Given the description of an element on the screen output the (x, y) to click on. 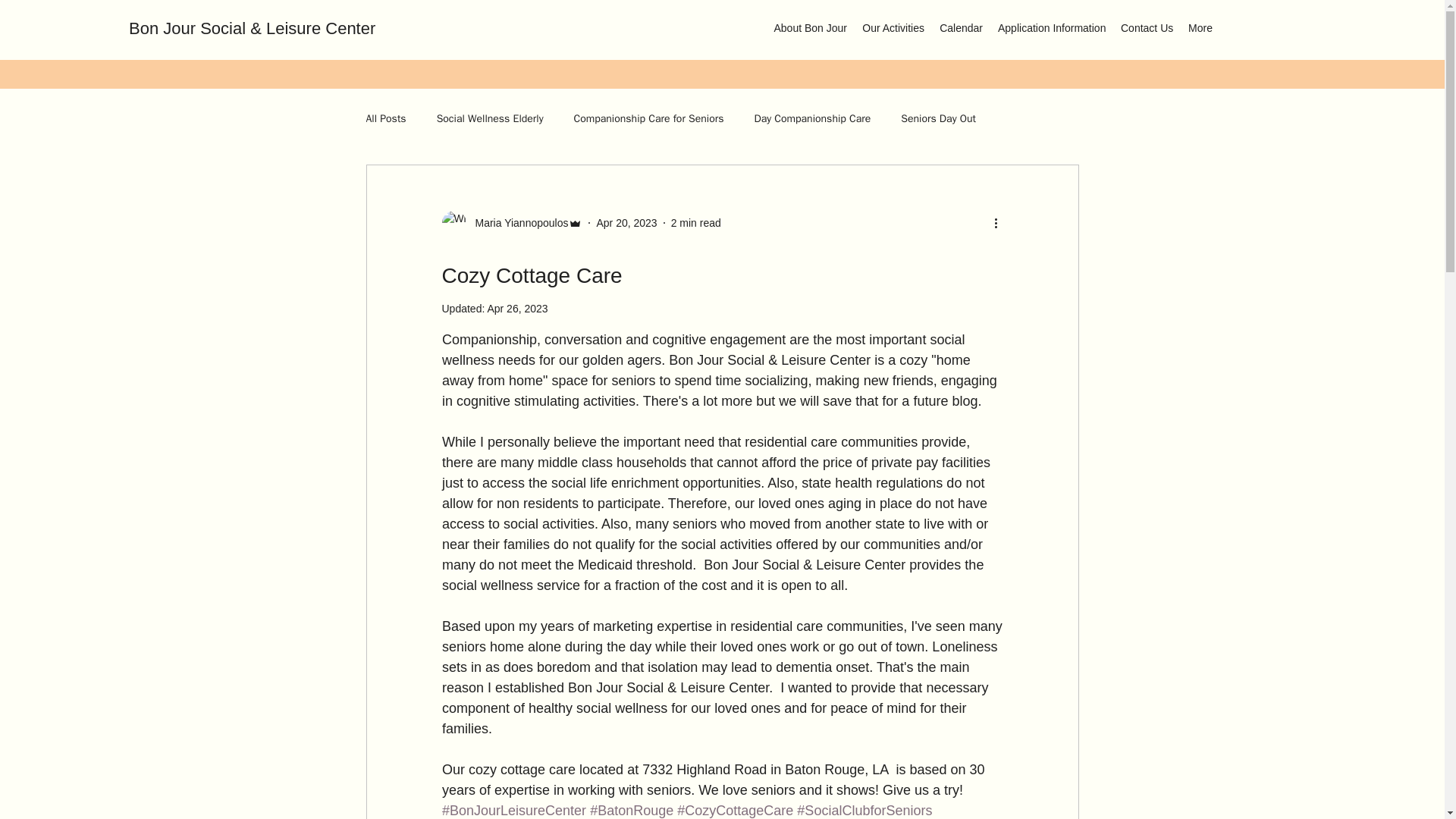
Social Wellness Elderly (489, 119)
Seniors Day Out (938, 119)
About Bon Jour (809, 28)
All Posts (385, 119)
Day Companionship Care (812, 119)
Calendar (960, 28)
Apr 20, 2023 (625, 223)
Companionship Care for Seniors (648, 119)
Maria Yiannopoulos (511, 222)
Maria Yiannopoulos (516, 222)
